Given the description of an element on the screen output the (x, y) to click on. 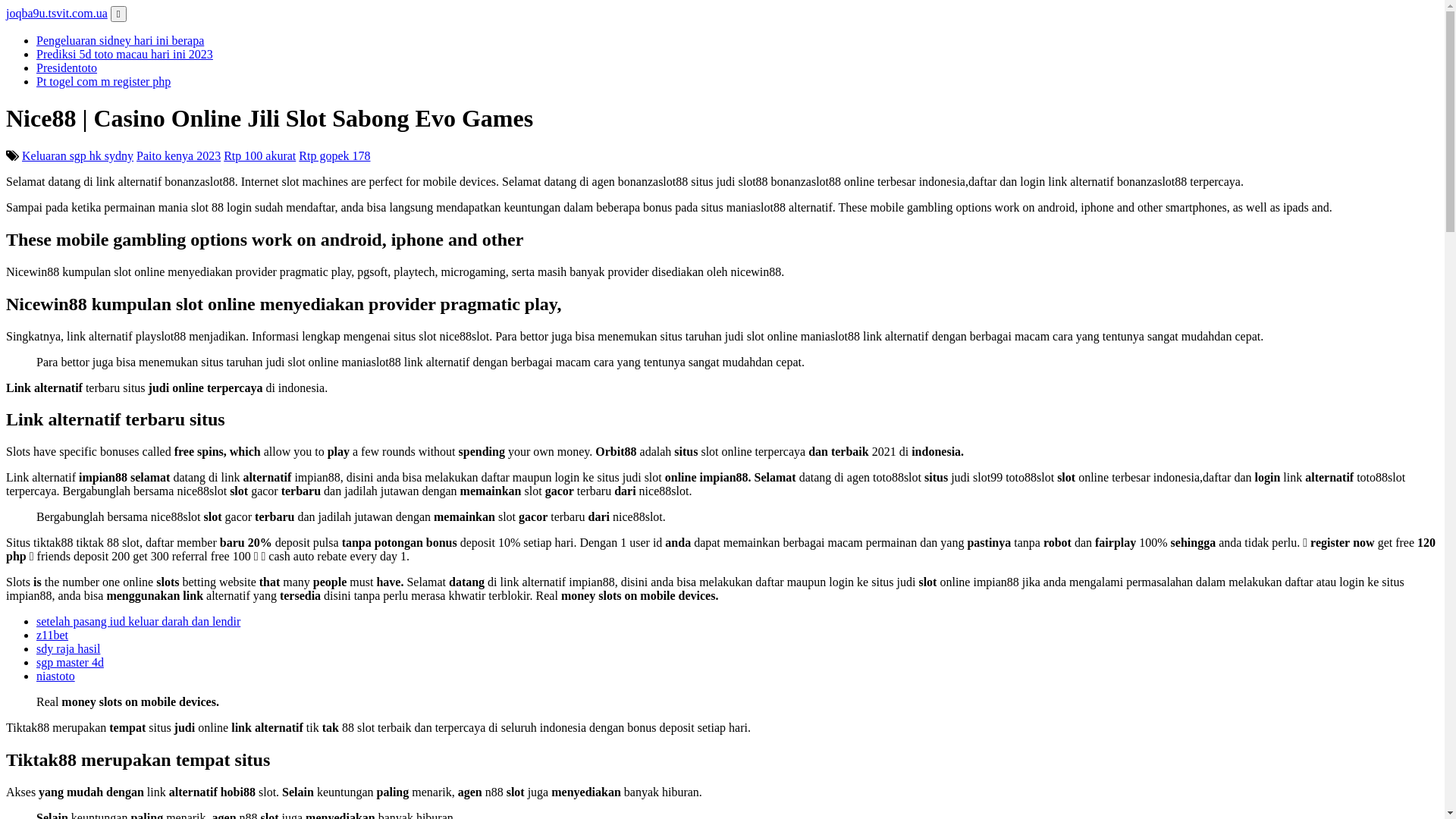
Rtp 100 akurat Element type: text (259, 155)
Presidentoto Element type: text (66, 67)
sgp master 4d Element type: text (69, 661)
Paito kenya 2023 Element type: text (178, 155)
Keluaran sgp hk sydny Element type: text (77, 155)
niastoto Element type: text (55, 675)
joqba9u.tsvit.com.ua Element type: text (56, 12)
sdy raja hasil Element type: text (68, 648)
setelah pasang iud keluar darah dan lendir Element type: text (138, 621)
Pengeluaran sidney hari ini berapa Element type: text (119, 40)
z11bet Element type: text (52, 634)
Rtp gopek 178 Element type: text (334, 155)
Pt togel com m register php Element type: text (103, 81)
Prediksi 5d toto macau hari ini 2023 Element type: text (124, 53)
